Given the description of an element on the screen output the (x, y) to click on. 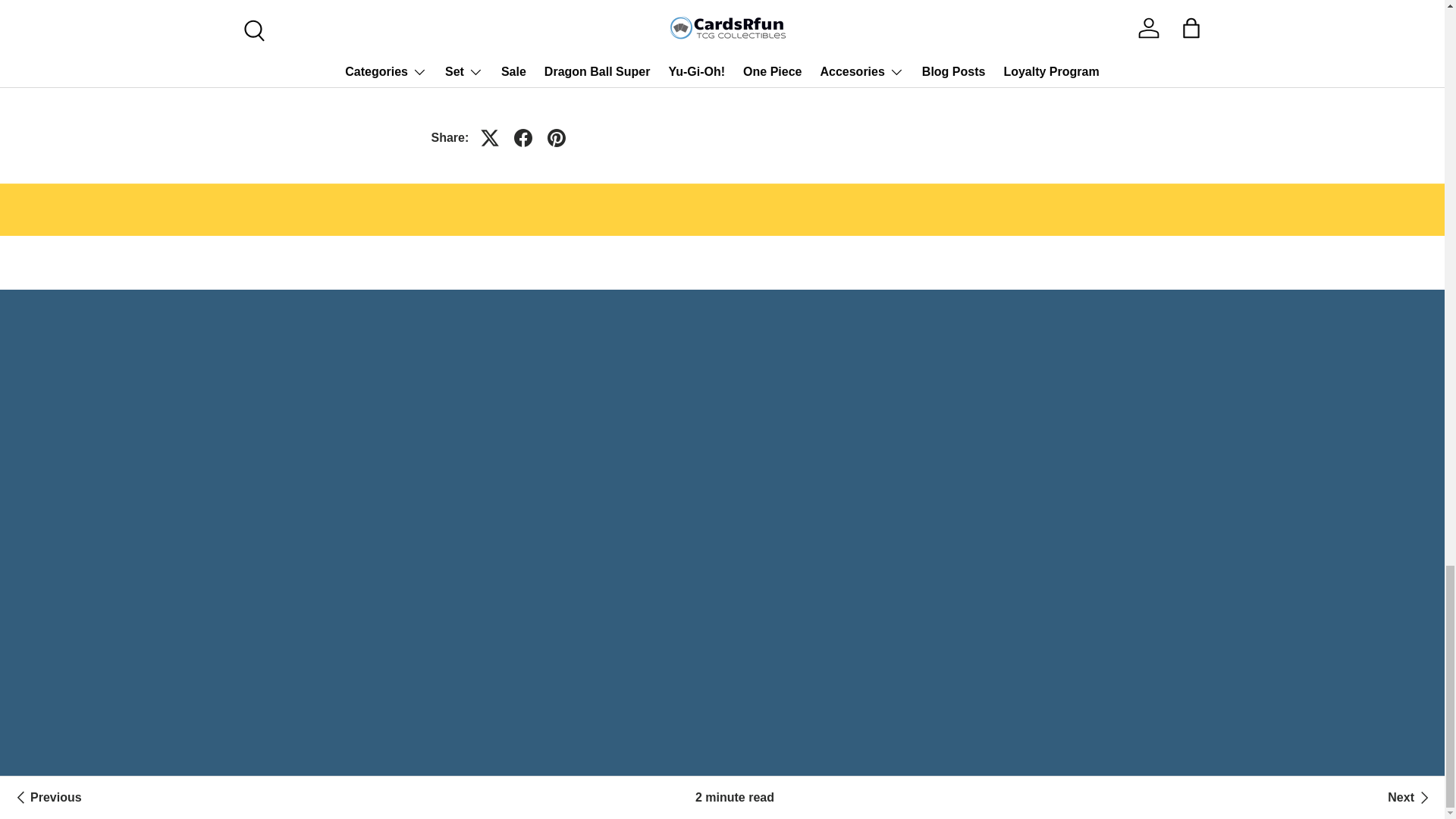
Share on Facebook (523, 137)
Tweet on X (489, 137)
Pin on Pinterest (556, 137)
